Given the description of an element on the screen output the (x, y) to click on. 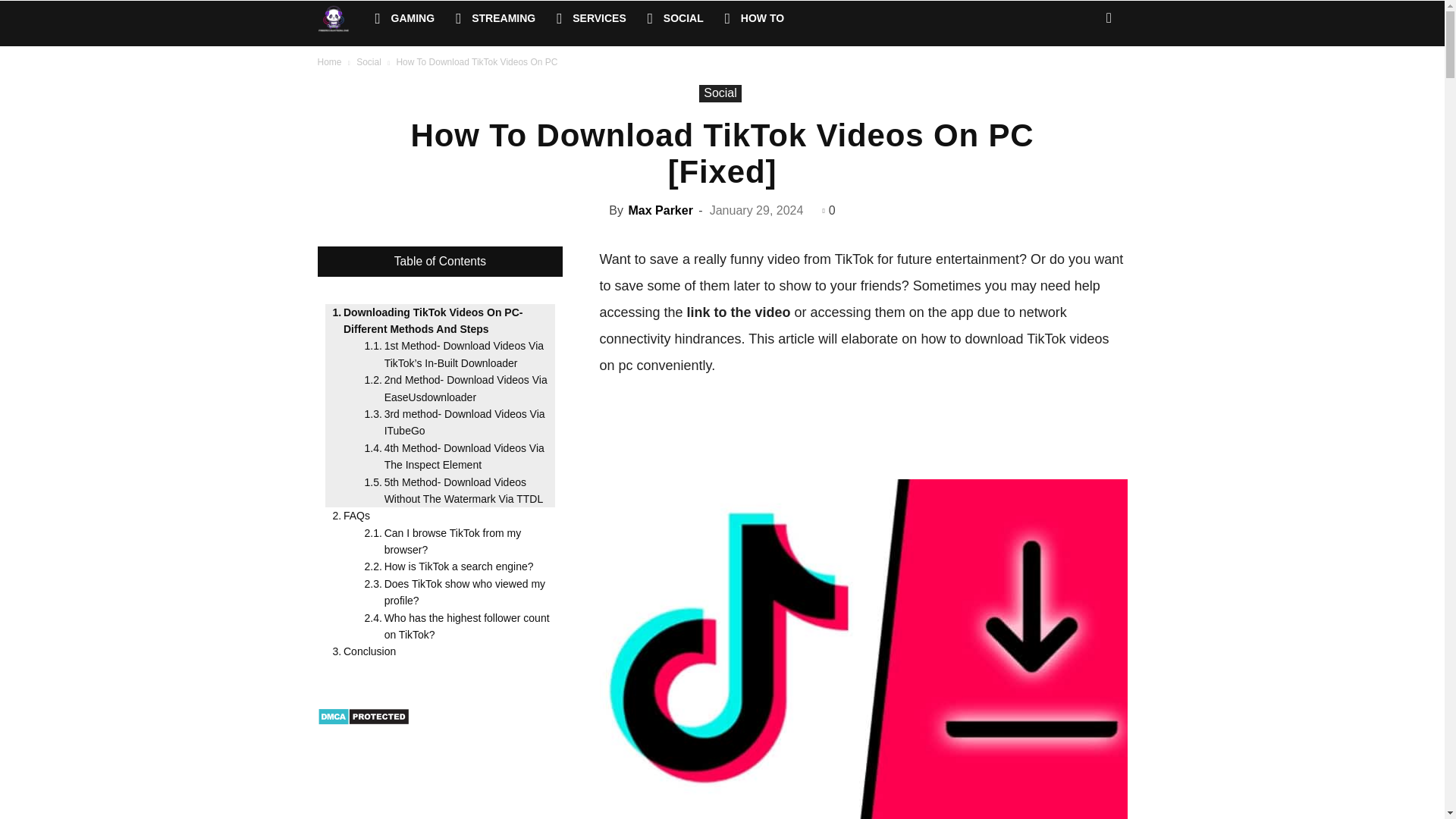
Advertisement (874, 432)
GAMING (404, 18)
Search (1085, 78)
Social (719, 93)
SERVICES (591, 18)
FreeAccountsOnline (340, 18)
SOCIAL (675, 18)
View all posts in Social (368, 61)
Home (328, 61)
Social (368, 61)
Max Parker (660, 210)
STREAMING (495, 18)
HOW TO (754, 18)
0 (828, 210)
